Given the description of an element on the screen output the (x, y) to click on. 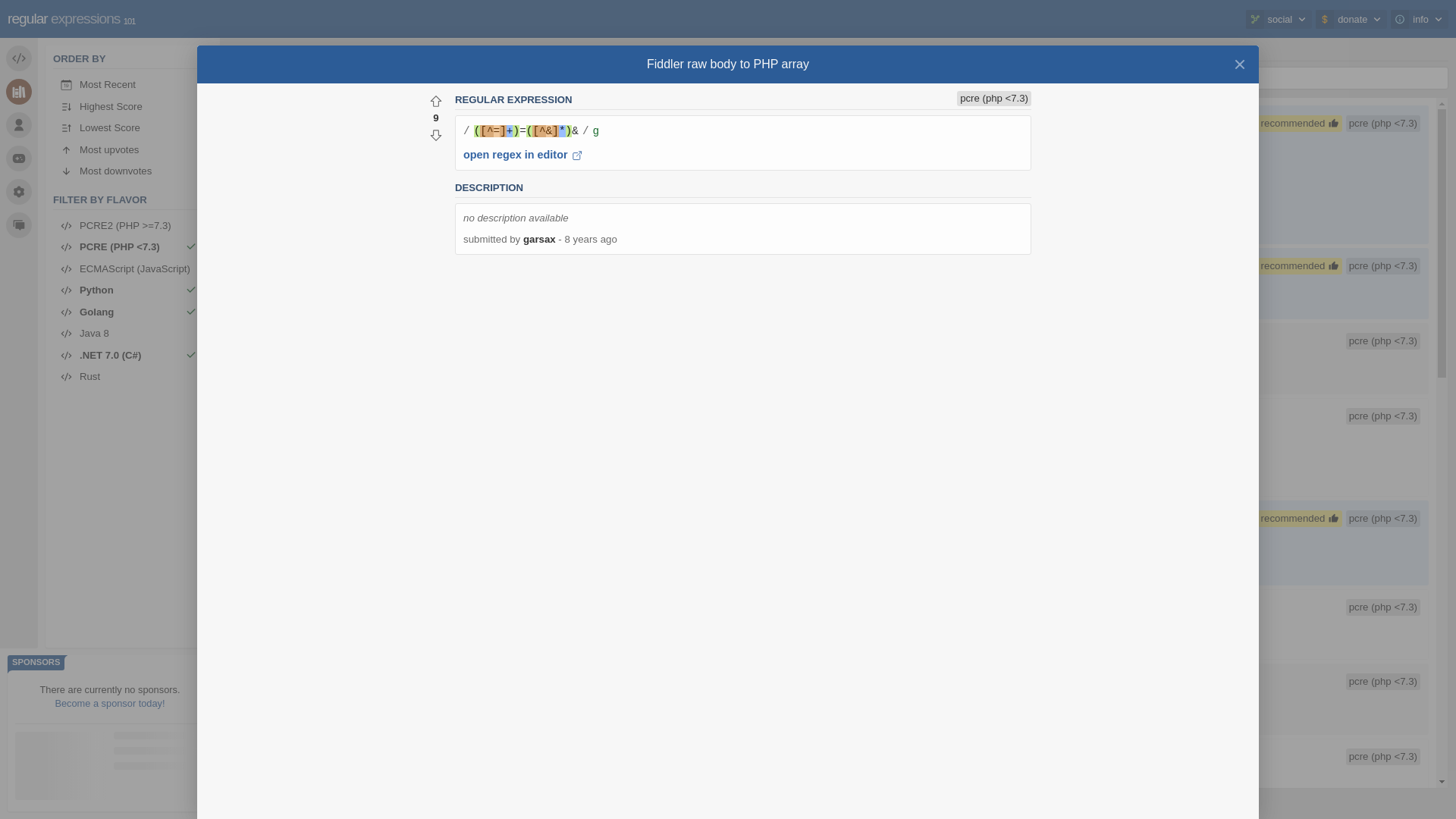
Regex Quiz (18, 158)
Most Recent (128, 85)
Java 8 (128, 333)
Account (18, 125)
Most downvotes (128, 171)
Community Patterns (18, 91)
Regex Editor (18, 58)
Settings (18, 191)
Rust (128, 377)
Golang (128, 312)
donate (1351, 18)
Most upvotes (128, 150)
regular expressions 101 (71, 18)
Highest Score (128, 106)
Lowest Score (128, 128)
